Given the description of an element on the screen output the (x, y) to click on. 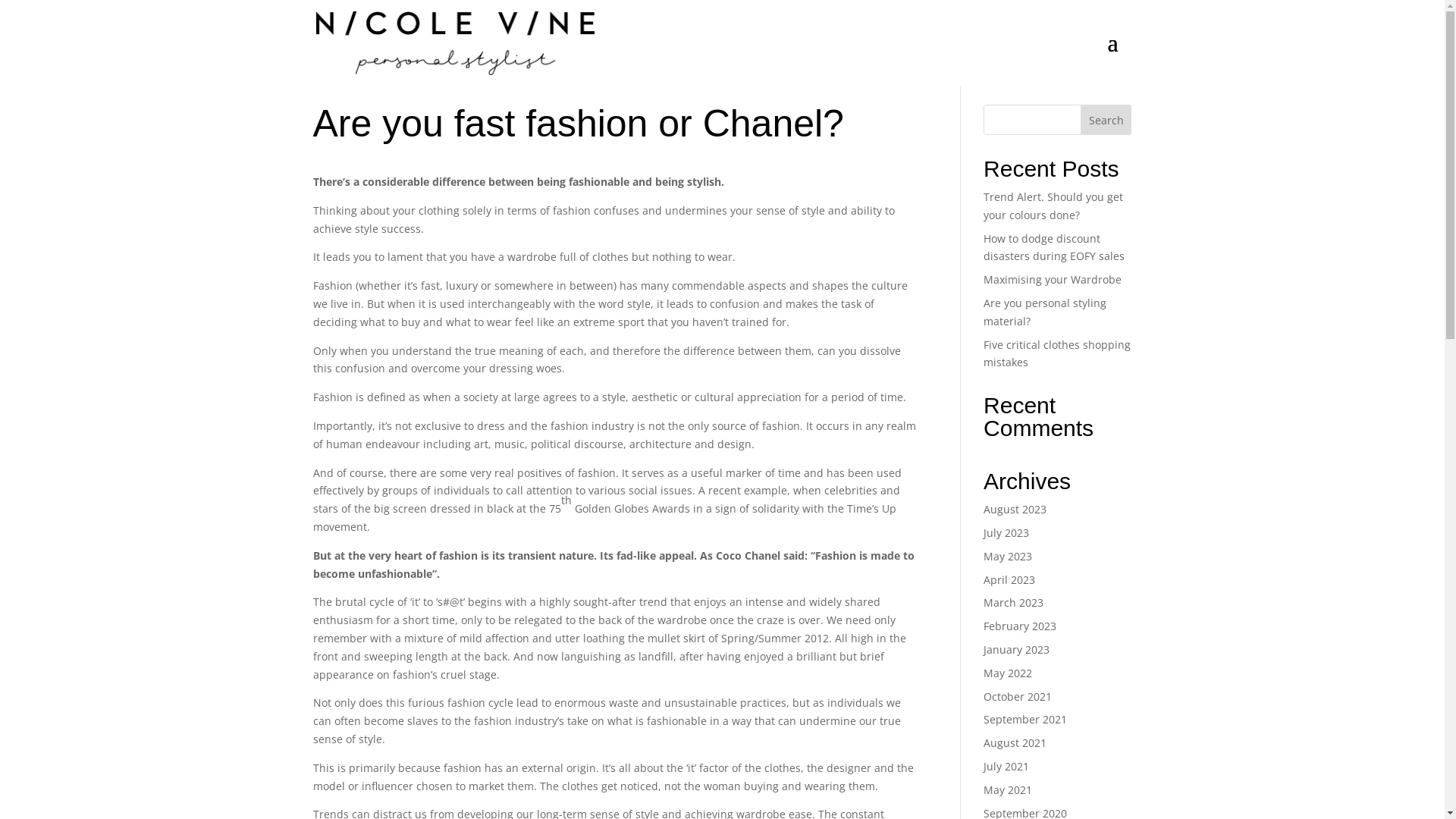
Trend Alert. Should you get your colours done? Element type: text (1053, 205)
Are you personal styling material? Element type: text (1044, 311)
How to dodge discount disasters during EOFY sales Element type: text (1053, 247)
May 2021 Element type: text (1007, 789)
Search Element type: text (1106, 119)
Maximising your Wardrobe Element type: text (1052, 279)
July 2023 Element type: text (1006, 532)
March 2023 Element type: text (1013, 602)
August 2023 Element type: text (1014, 509)
August 2021 Element type: text (1014, 742)
January 2023 Element type: text (1016, 649)
Five critical clothes shopping mistakes Element type: text (1056, 353)
April 2023 Element type: text (1009, 579)
September 2021 Element type: text (1024, 719)
May 2023 Element type: text (1007, 556)
July 2021 Element type: text (1006, 766)
May 2022 Element type: text (1007, 672)
February 2023 Element type: text (1019, 625)
October 2021 Element type: text (1017, 696)
